Given the description of an element on the screen output the (x, y) to click on. 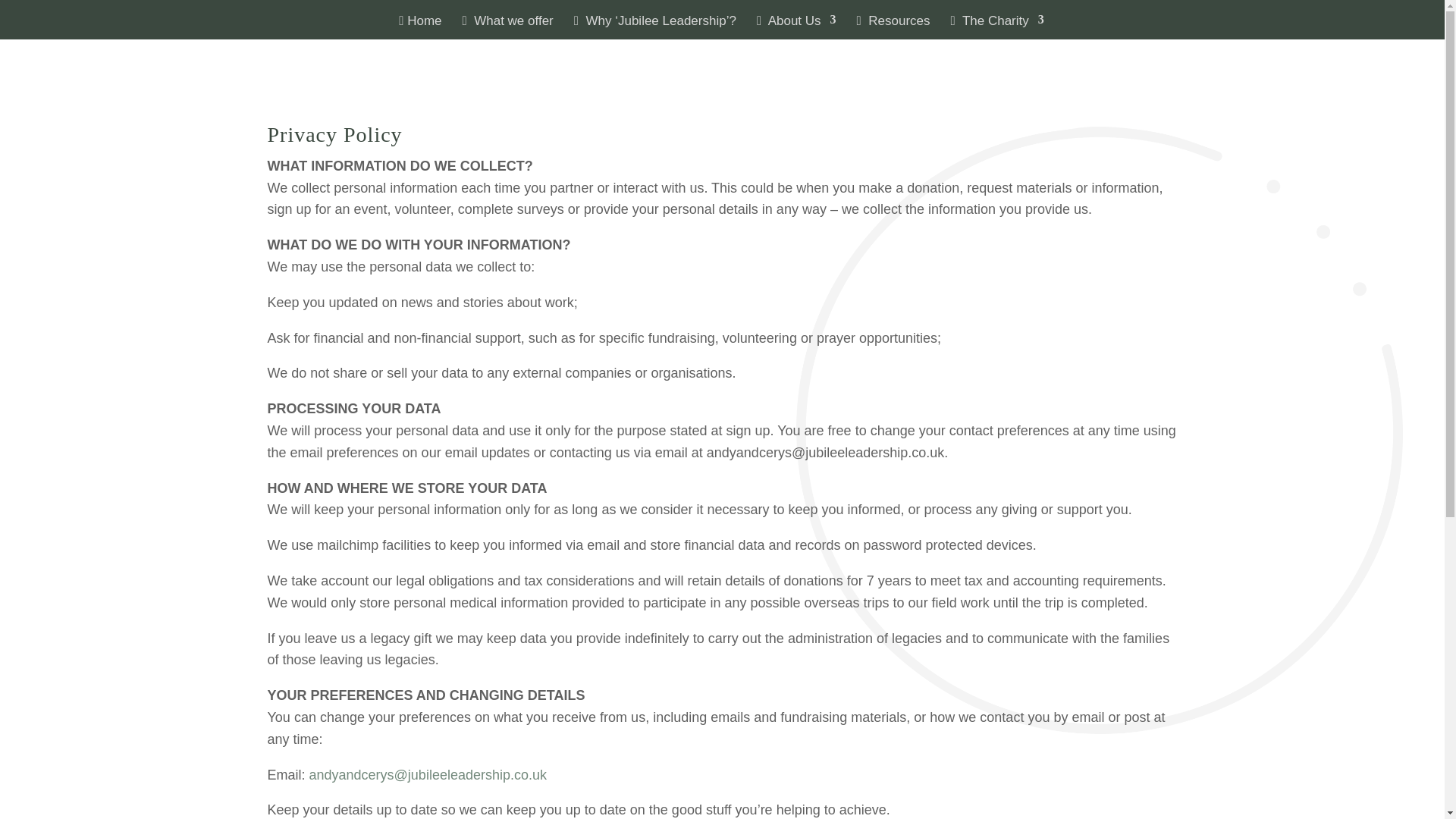
 What we offer (508, 26)
 About Us (796, 26)
 Resources (893, 26)
Home (419, 26)
 The Charity (996, 26)
